Given the description of an element on the screen output the (x, y) to click on. 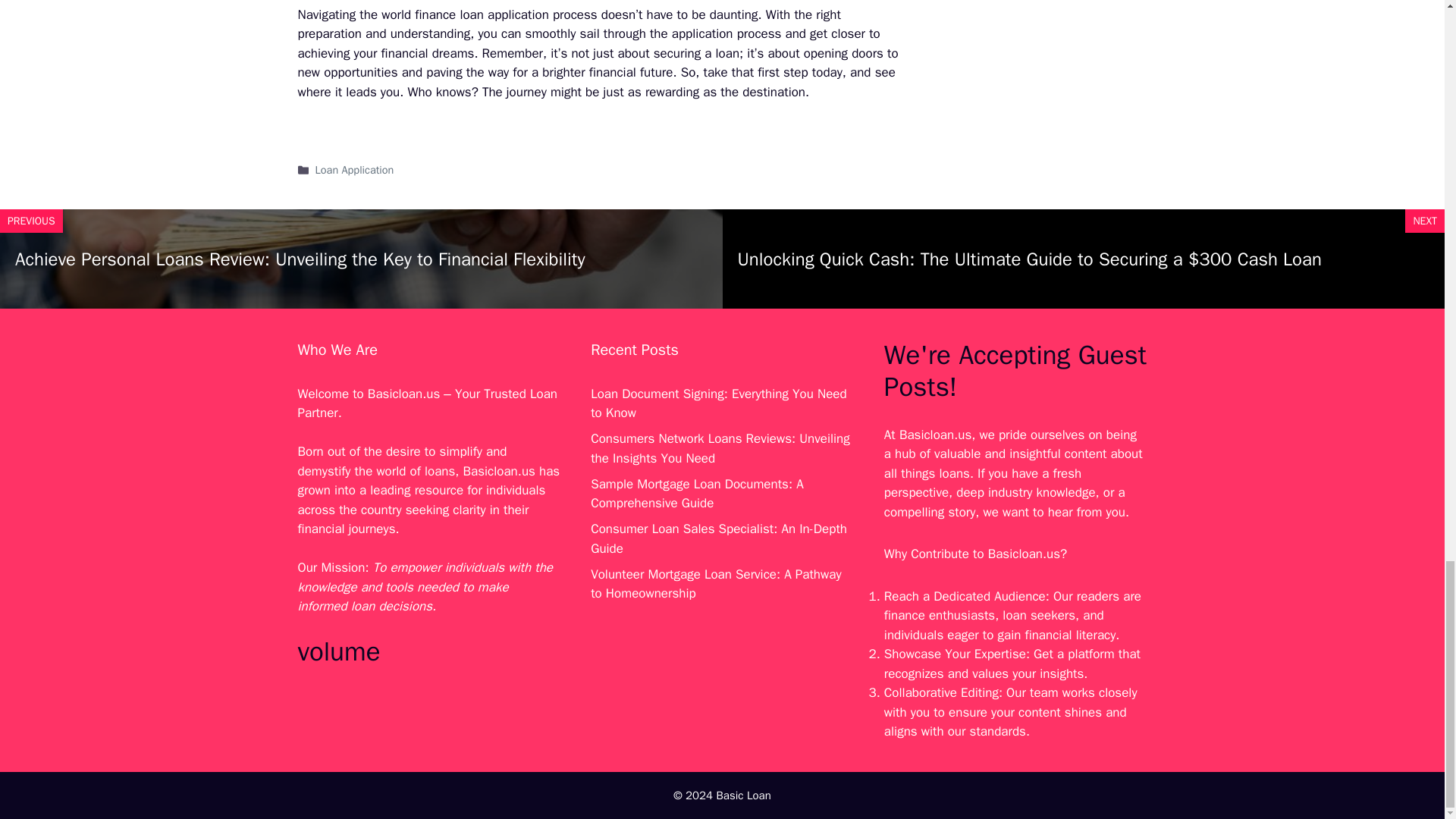
Sample Mortgage Loan Documents: A Comprehensive Guide (697, 493)
Consumer Loan Sales Specialist: An In-Depth Guide (719, 538)
Loan Document Signing: Everything You Need to Know (719, 403)
Loan Application (354, 169)
Volunteer Mortgage Loan Service: A Pathway to Homeownership (716, 583)
